Given the description of an element on the screen output the (x, y) to click on. 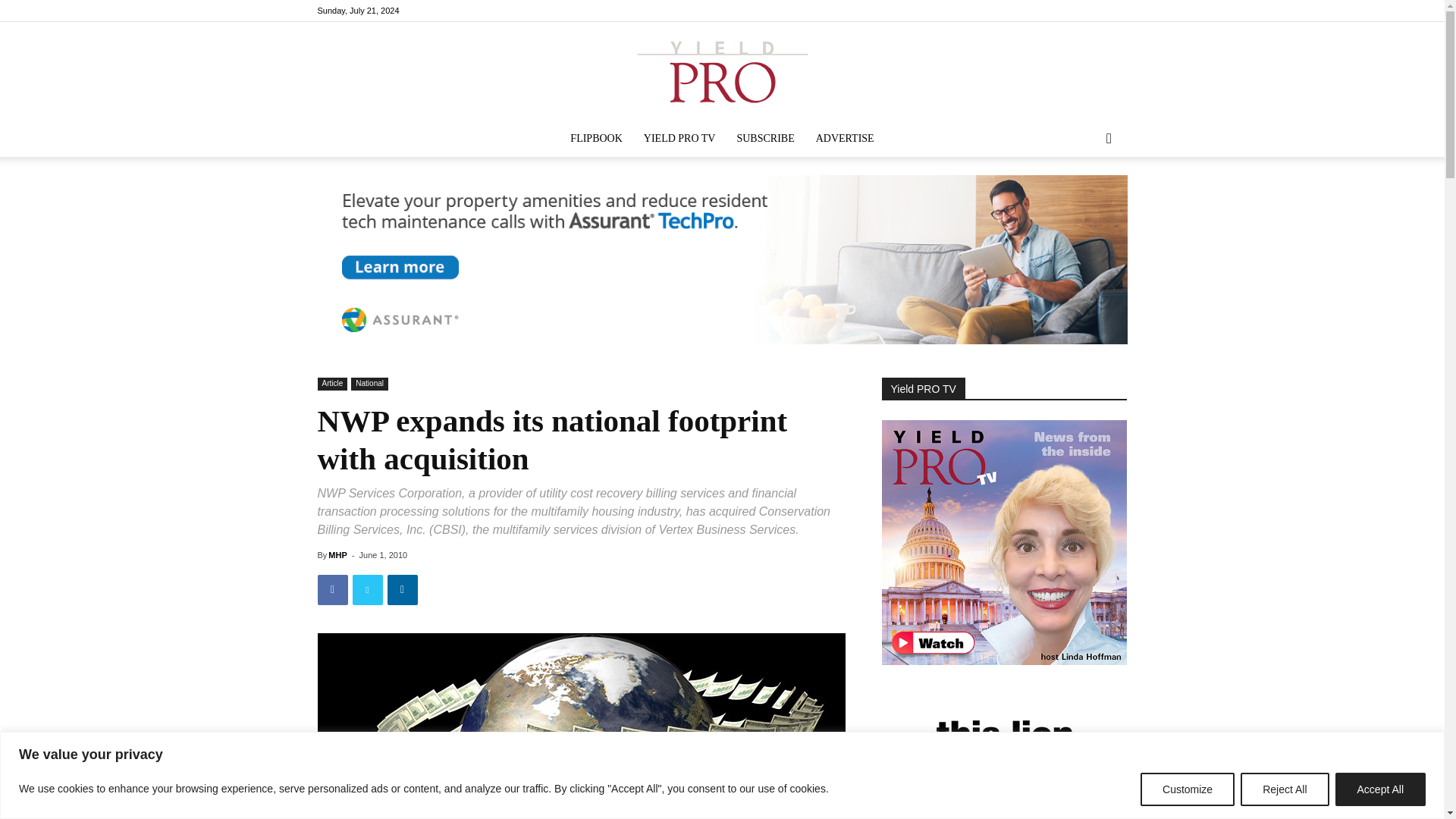
YIELD PRO TV (679, 138)
Twitter (1114, 10)
ADVERTISE (845, 138)
Accept All (1380, 788)
global (580, 725)
Search (1085, 199)
Linkedin (1090, 10)
Reject All (1283, 788)
Facebook (1065, 10)
SUBSCRIBE (765, 138)
Customize (1187, 788)
FLIPBOOK (595, 138)
